Given the description of an element on the screen output the (x, y) to click on. 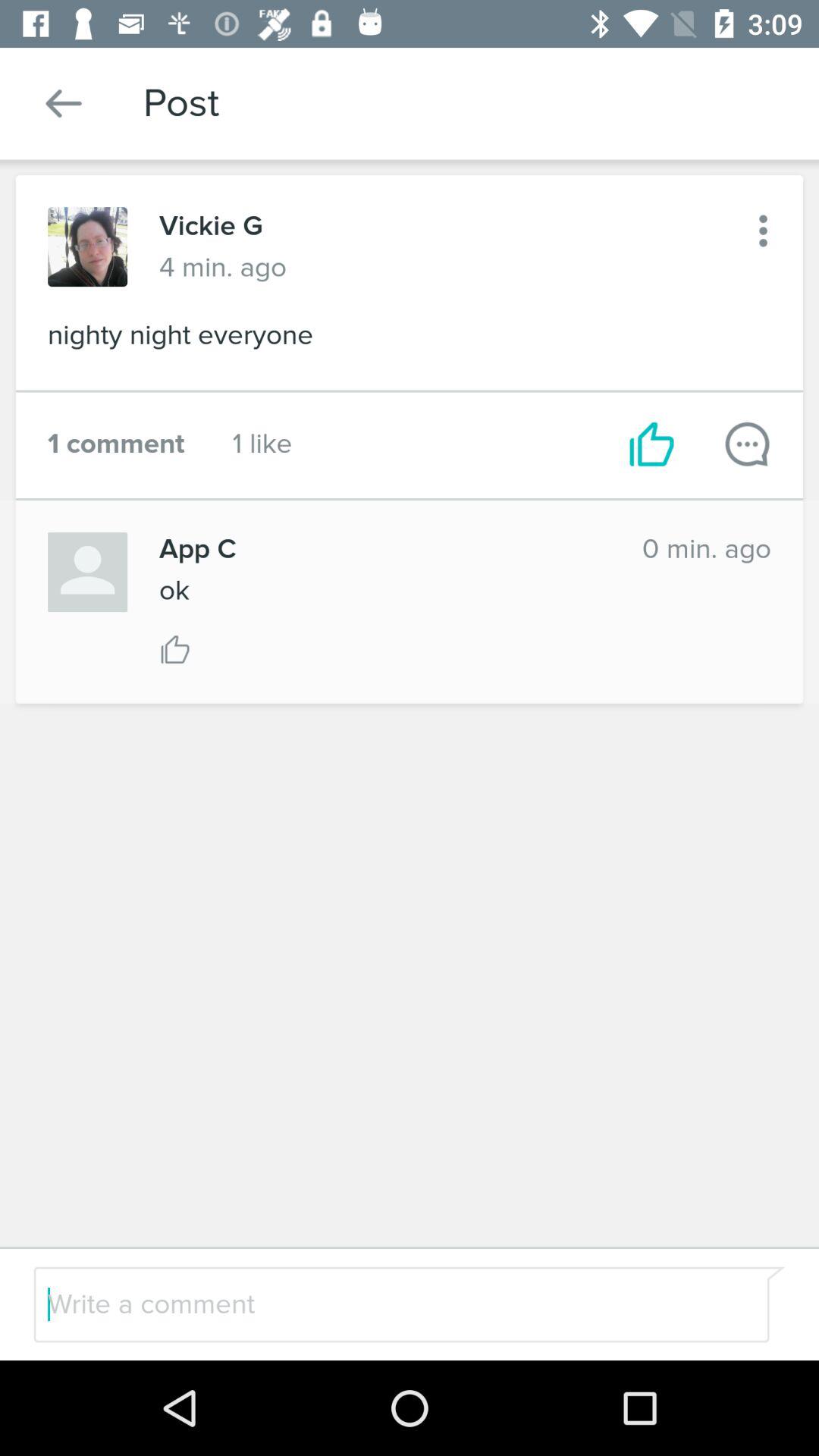
vote thumbs up (175, 649)
